Given the description of an element on the screen output the (x, y) to click on. 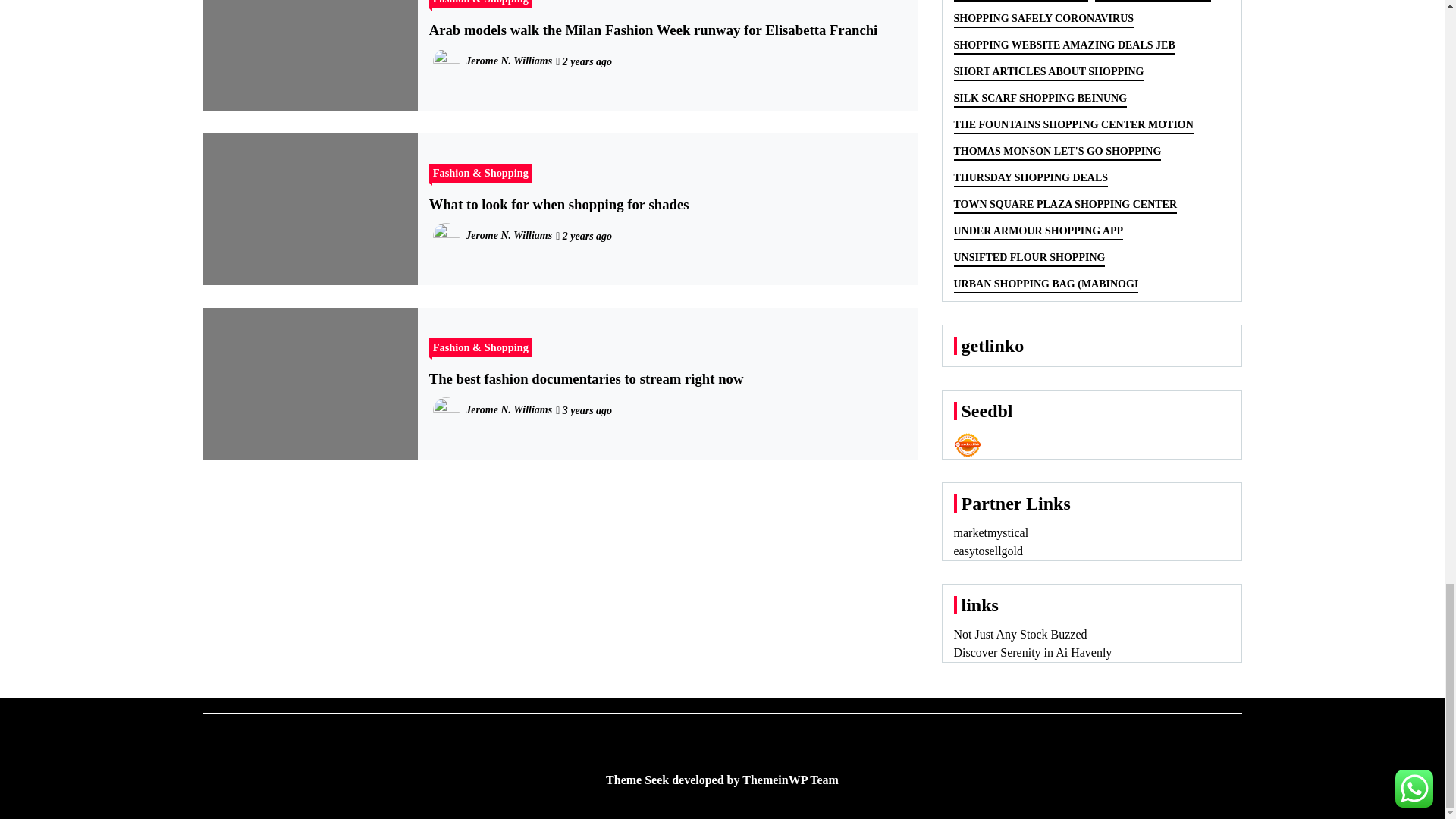
Seedbacklink (967, 444)
